Given the description of an element on the screen output the (x, y) to click on. 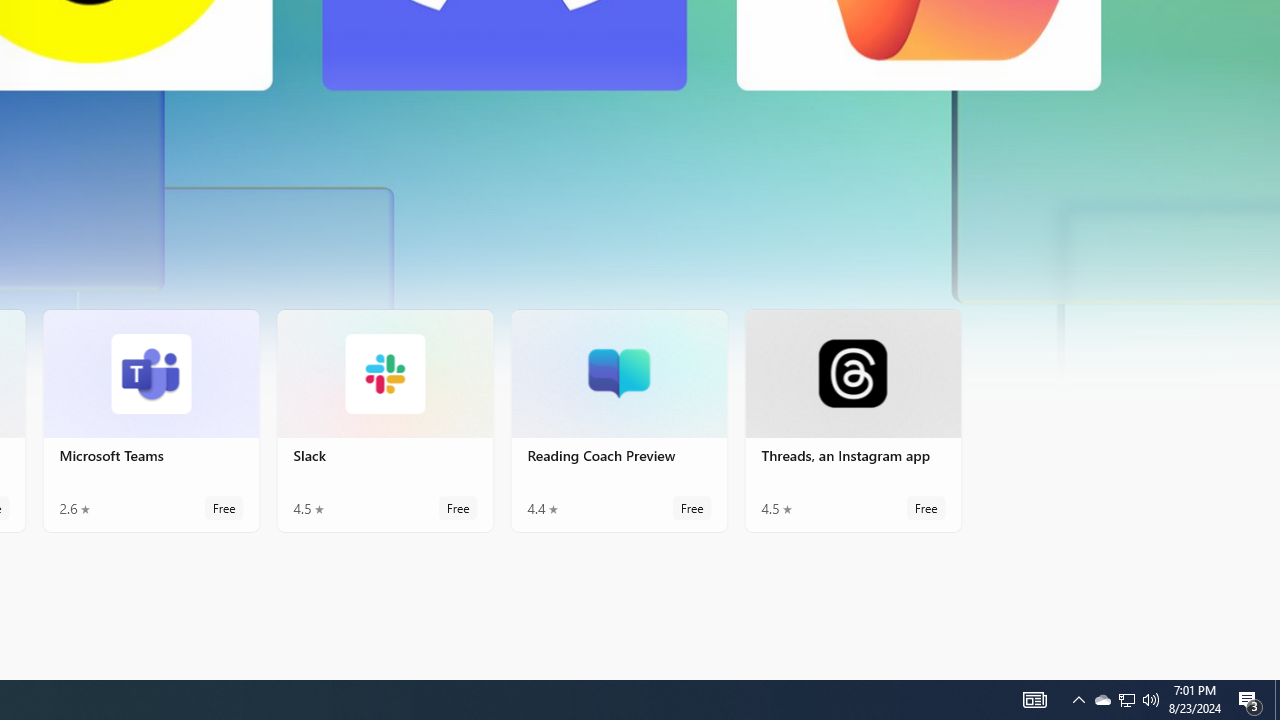
Slack. Average rating of 4.5 out of five stars. Free   (385, 420)
